Given the description of an element on the screen output the (x, y) to click on. 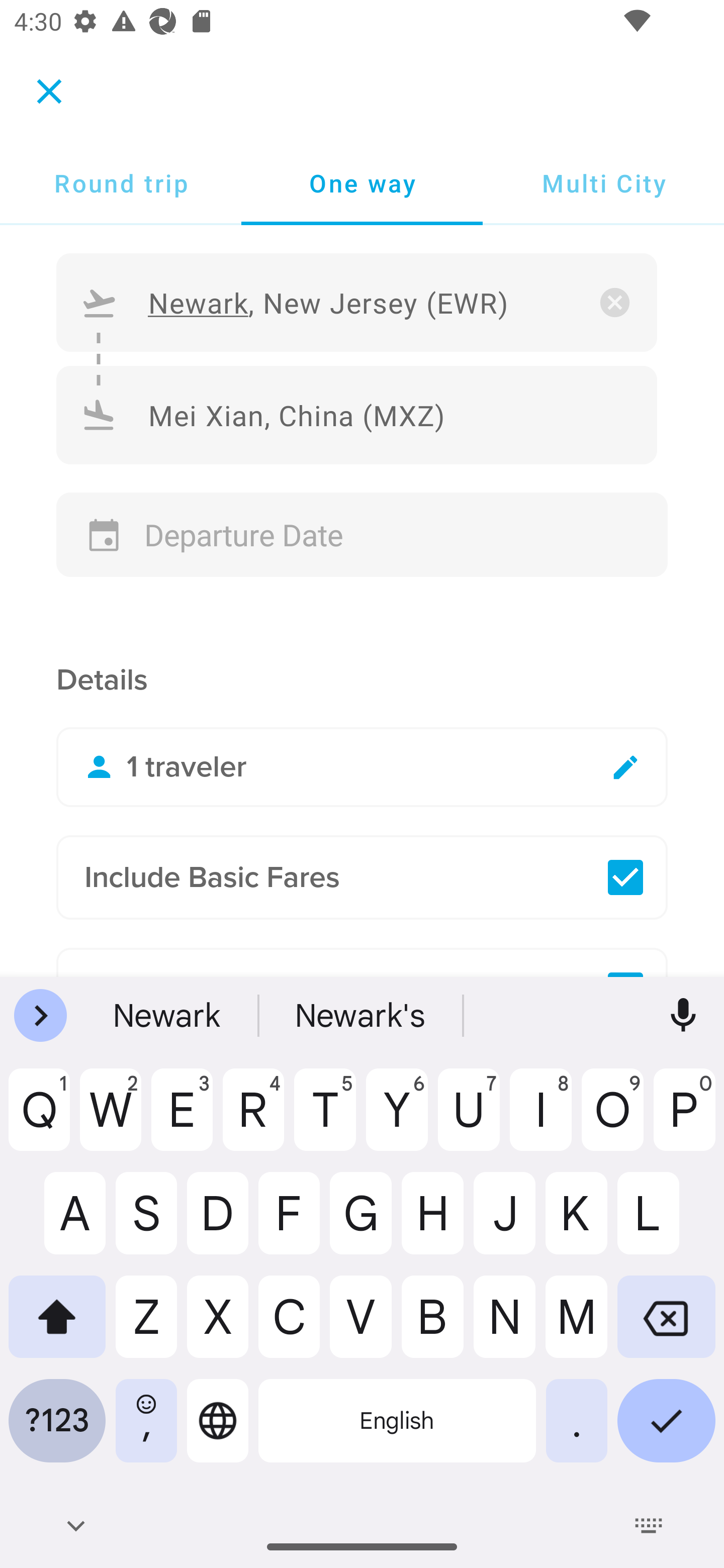
Cancel (49, 90)
Round trip (120, 183)
Multi City (603, 183)
Newark, New Jersey (EWR) (356, 302)
Mei Xian, China (MXZ) (356, 414)
Departure Date (361, 534)
1 traveler Edit Travelers (361, 766)
Include Basic Fares (361, 877)
